Given the description of an element on the screen output the (x, y) to click on. 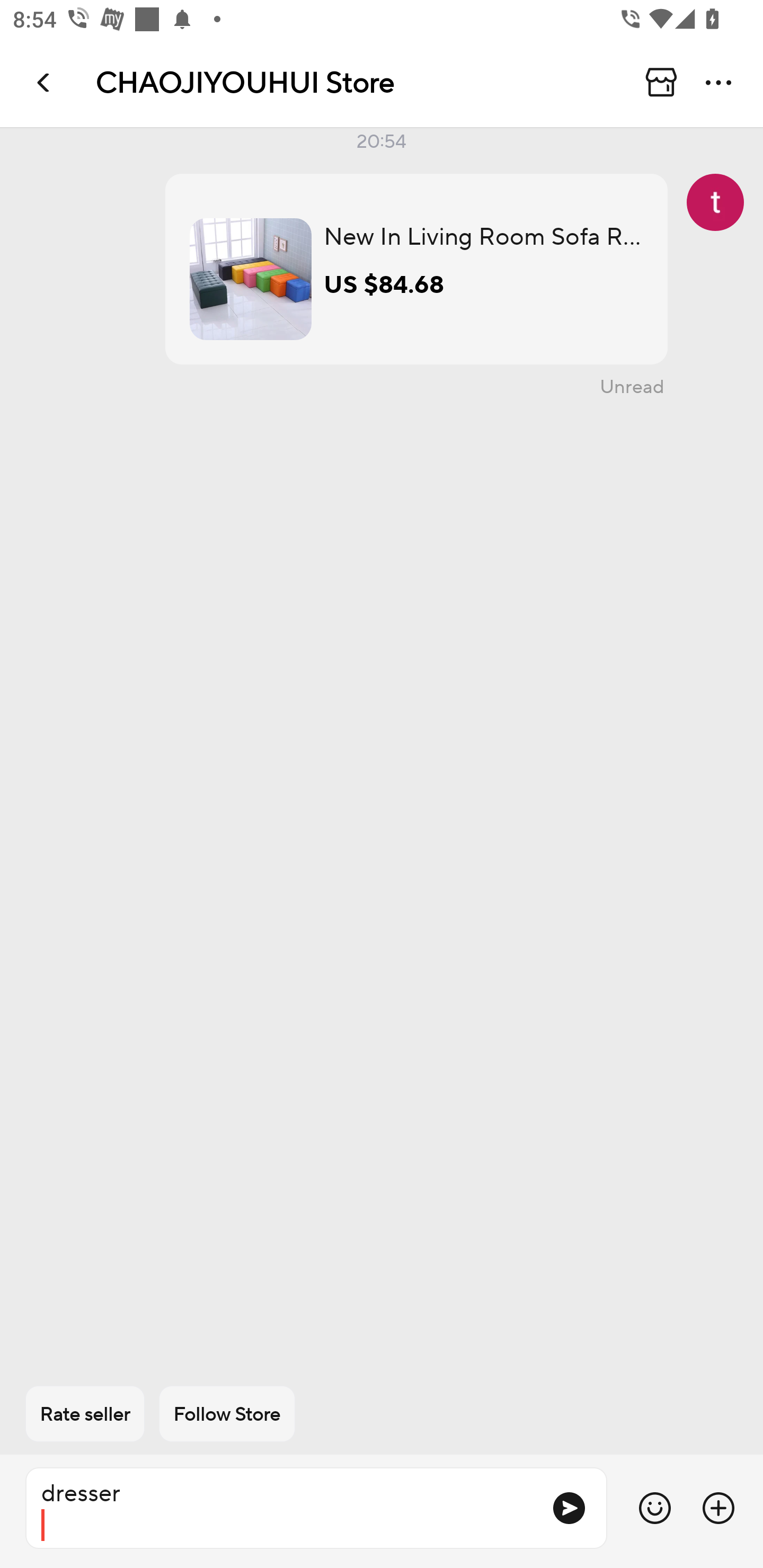
Navigate up (44, 82)
头像 (714, 202)
Rate seller (84, 1414)
Follow Store (226, 1414)
dresser
 (281, 1508)
